Given the description of an element on the screen output the (x, y) to click on. 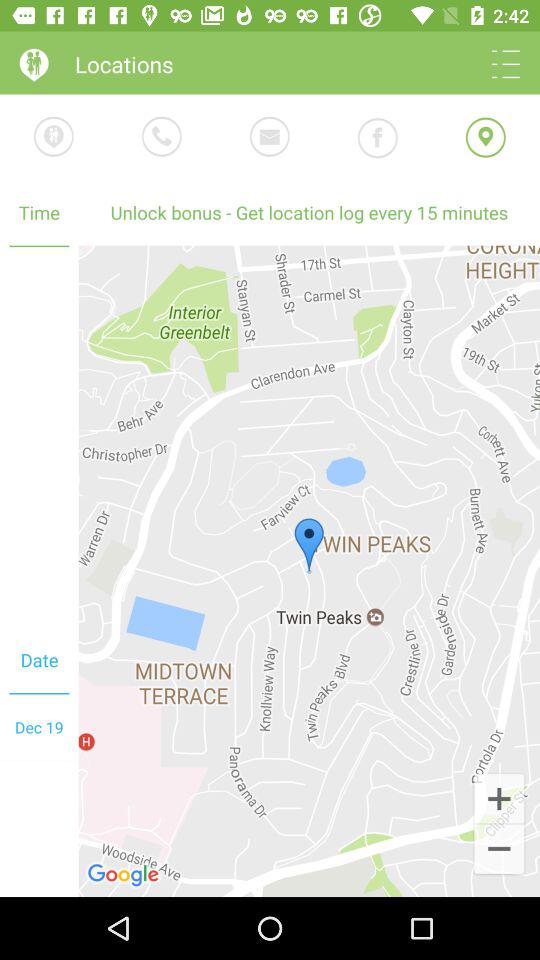
open item next to the time (309, 570)
